Given the description of an element on the screen output the (x, y) to click on. 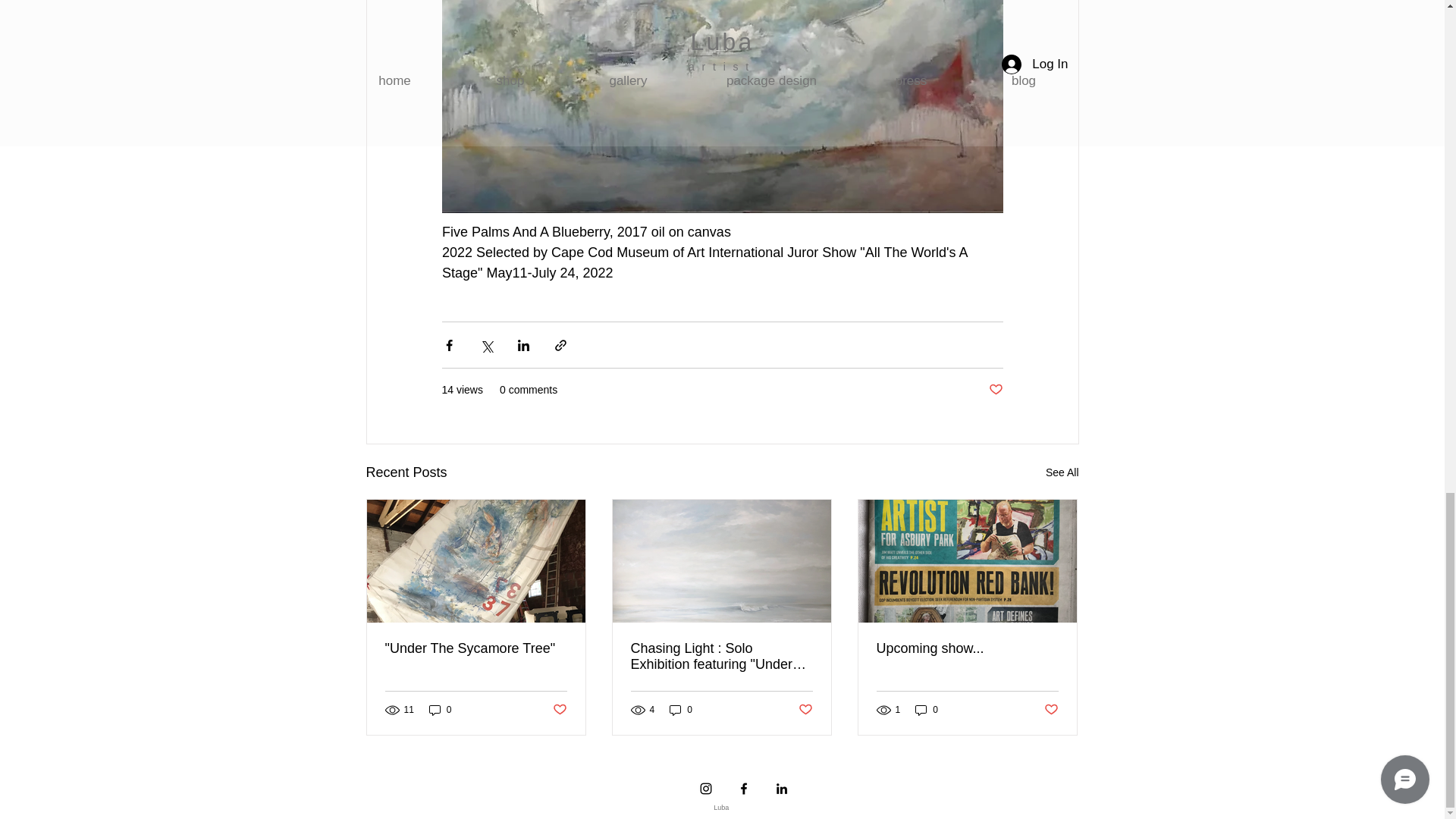
See All (1061, 472)
0 (440, 709)
"Under The Sycamore Tree" (476, 648)
Post not marked as liked (995, 390)
Post not marked as liked (558, 709)
